Given the description of an element on the screen output the (x, y) to click on. 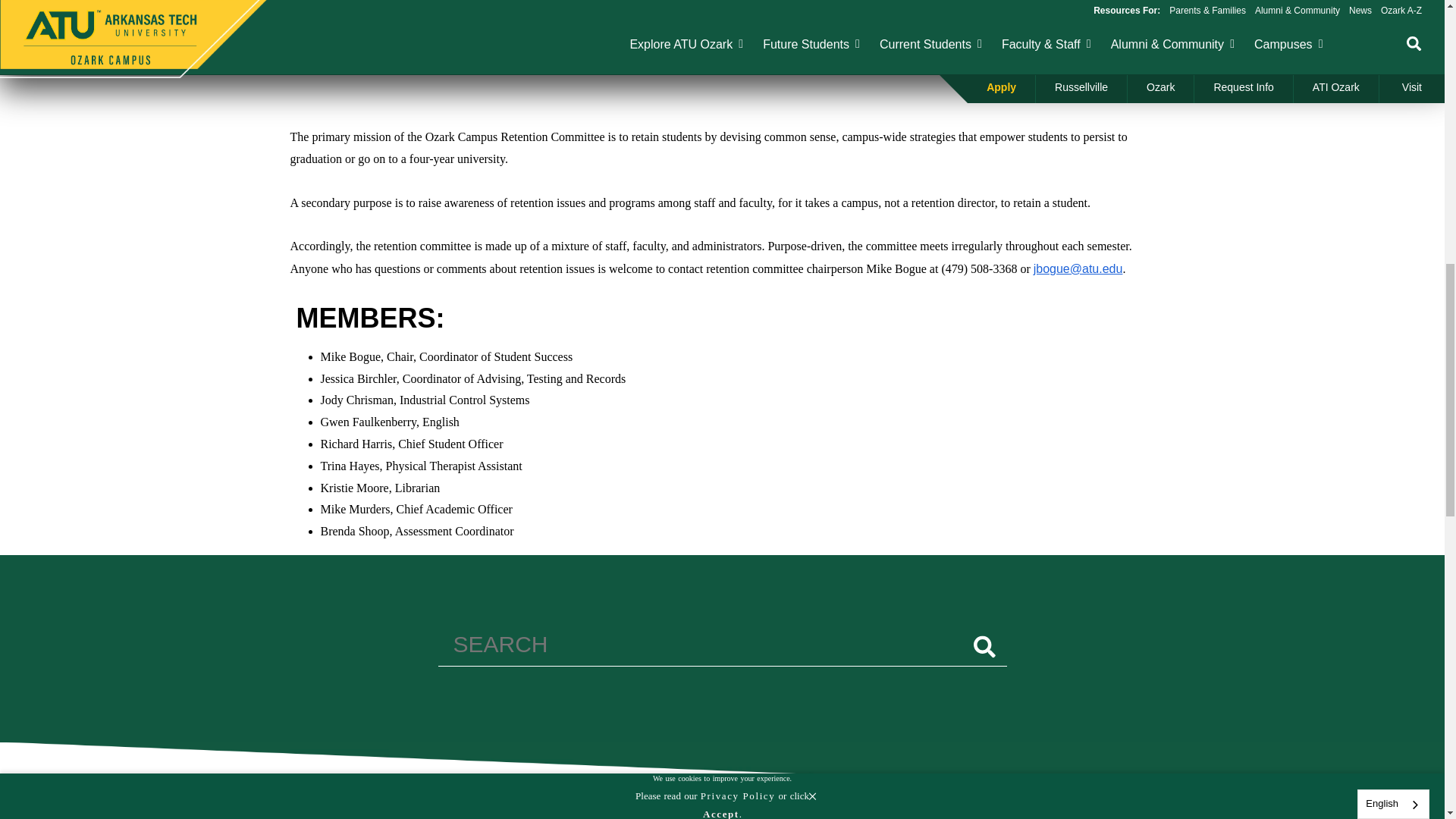
Accept (721, 2)
Site Search (722, 648)
